Given the description of an element on the screen output the (x, y) to click on. 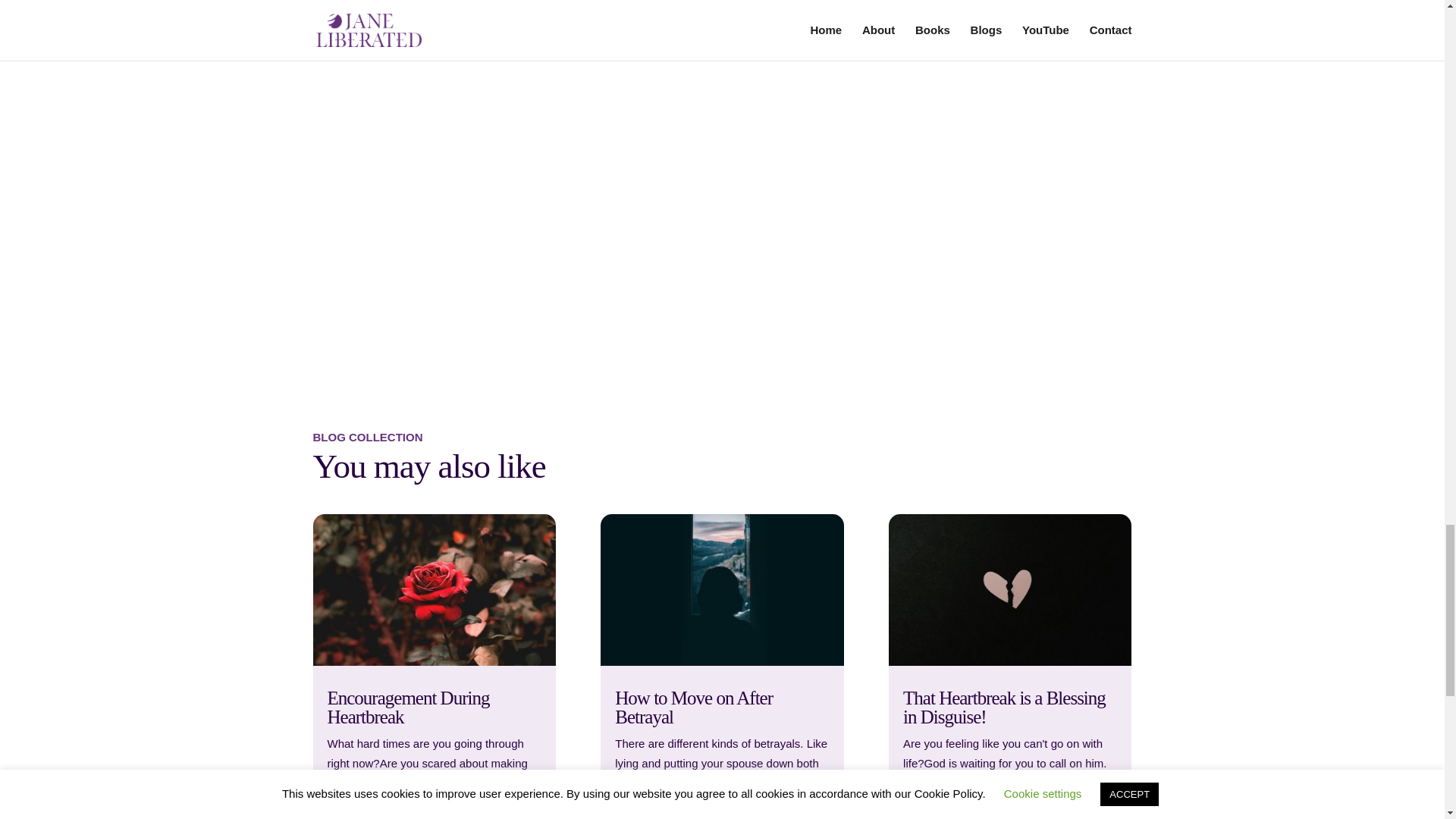
That Heartbreak is a Blessing in Disguise! (1003, 707)
READ MORE (937, 806)
READ MORE (361, 806)
Encouragement During Heartbreak (408, 707)
How to Move on After Betrayal (693, 707)
READ MORE (649, 806)
